Given the description of an element on the screen output the (x, y) to click on. 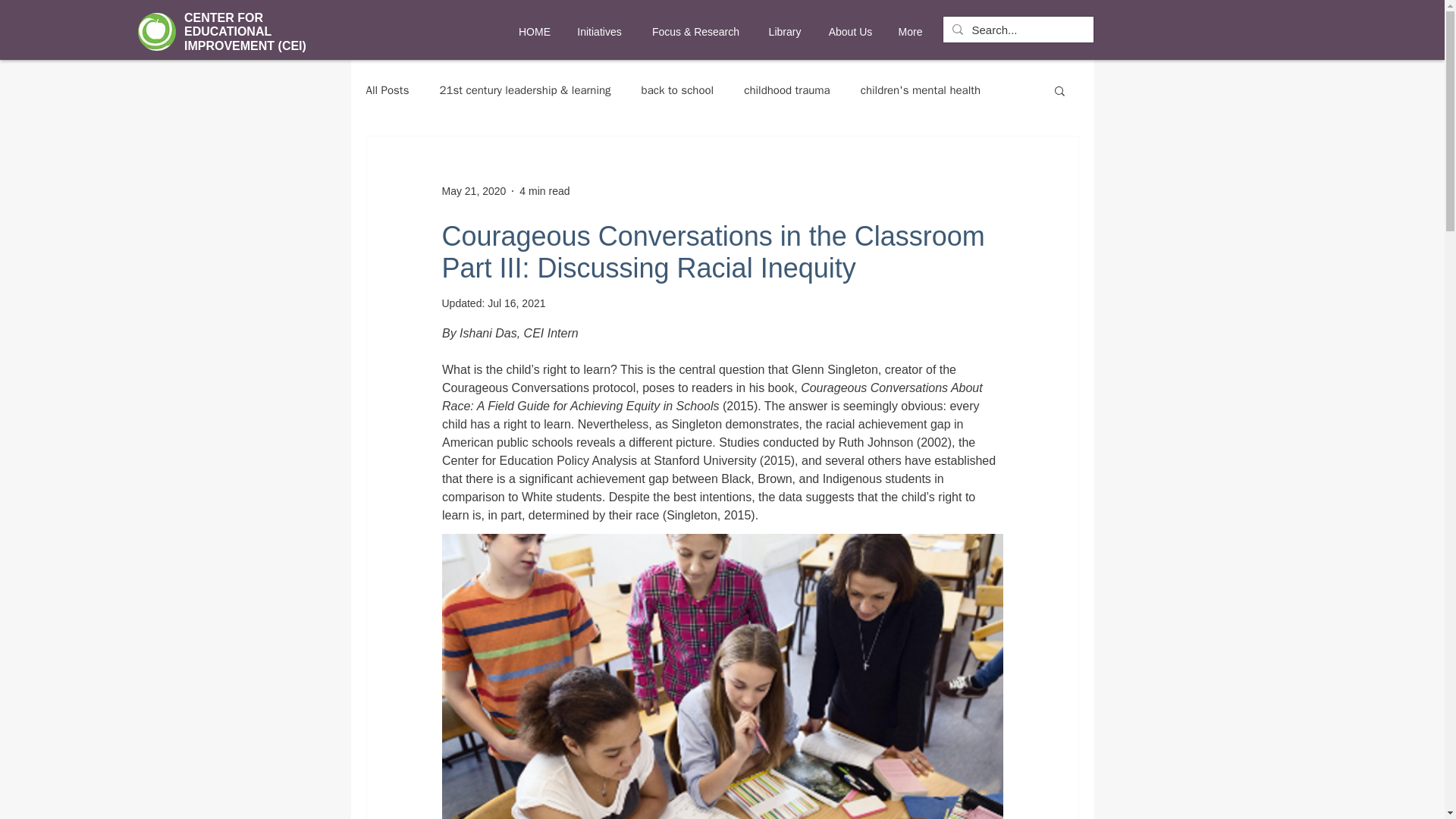
HOME (534, 32)
All Posts (387, 90)
4 min read (544, 191)
Initiatives (599, 32)
children's mental health (919, 90)
Jul 16, 2021 (515, 303)
childhood trauma (786, 90)
May 21, 2020 (473, 191)
Library (785, 32)
back to school (678, 90)
About Us (849, 32)
